Given the description of an element on the screen output the (x, y) to click on. 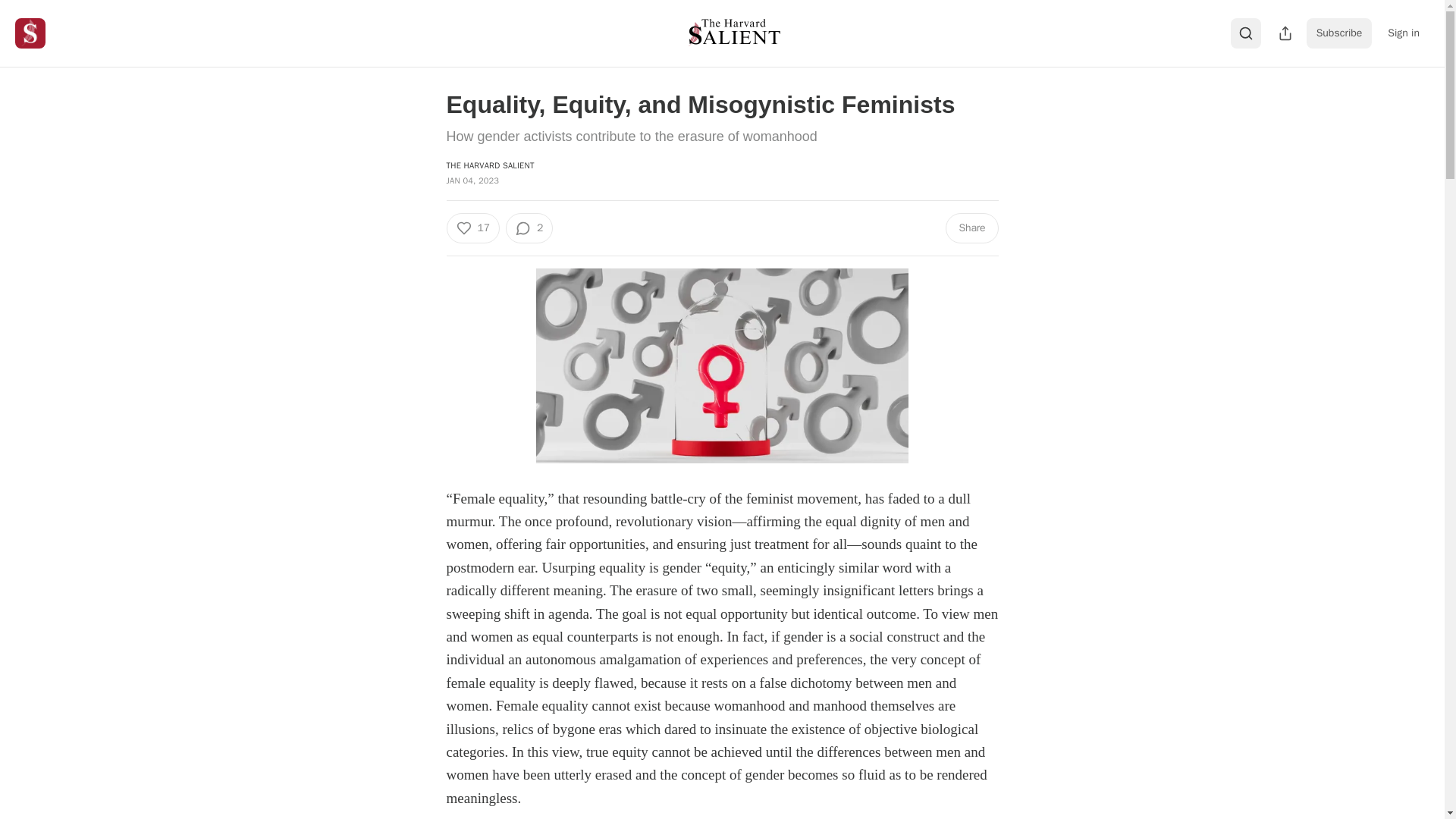
17 (472, 227)
THE HARVARD SALIENT (489, 164)
Sign in (1403, 33)
Subscribe (1339, 33)
Share (970, 227)
2 (529, 227)
